Given the description of an element on the screen output the (x, y) to click on. 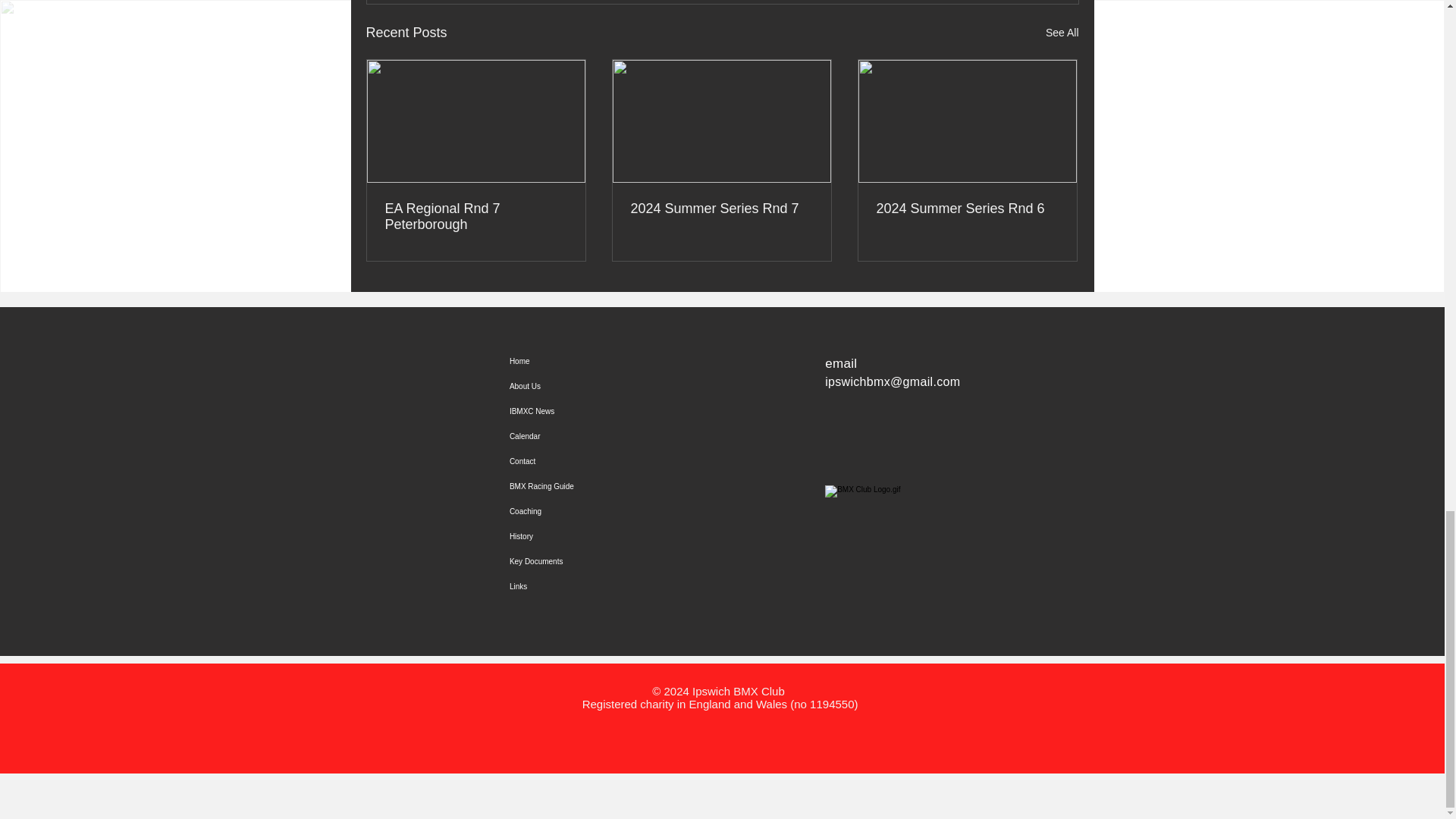
Home (574, 360)
Links (574, 586)
Calendar (574, 436)
About Us (574, 385)
Coaching (574, 511)
IBMXC News (574, 411)
Contact (574, 461)
See All (1061, 33)
Key Documents (574, 561)
2024 Summer Series Rnd 6 (967, 208)
EA Regional Rnd 7 Peterborough (476, 216)
BMX Racing Guide (574, 486)
History (574, 536)
2024 Summer Series Rnd 7 (721, 208)
